Given the description of an element on the screen output the (x, y) to click on. 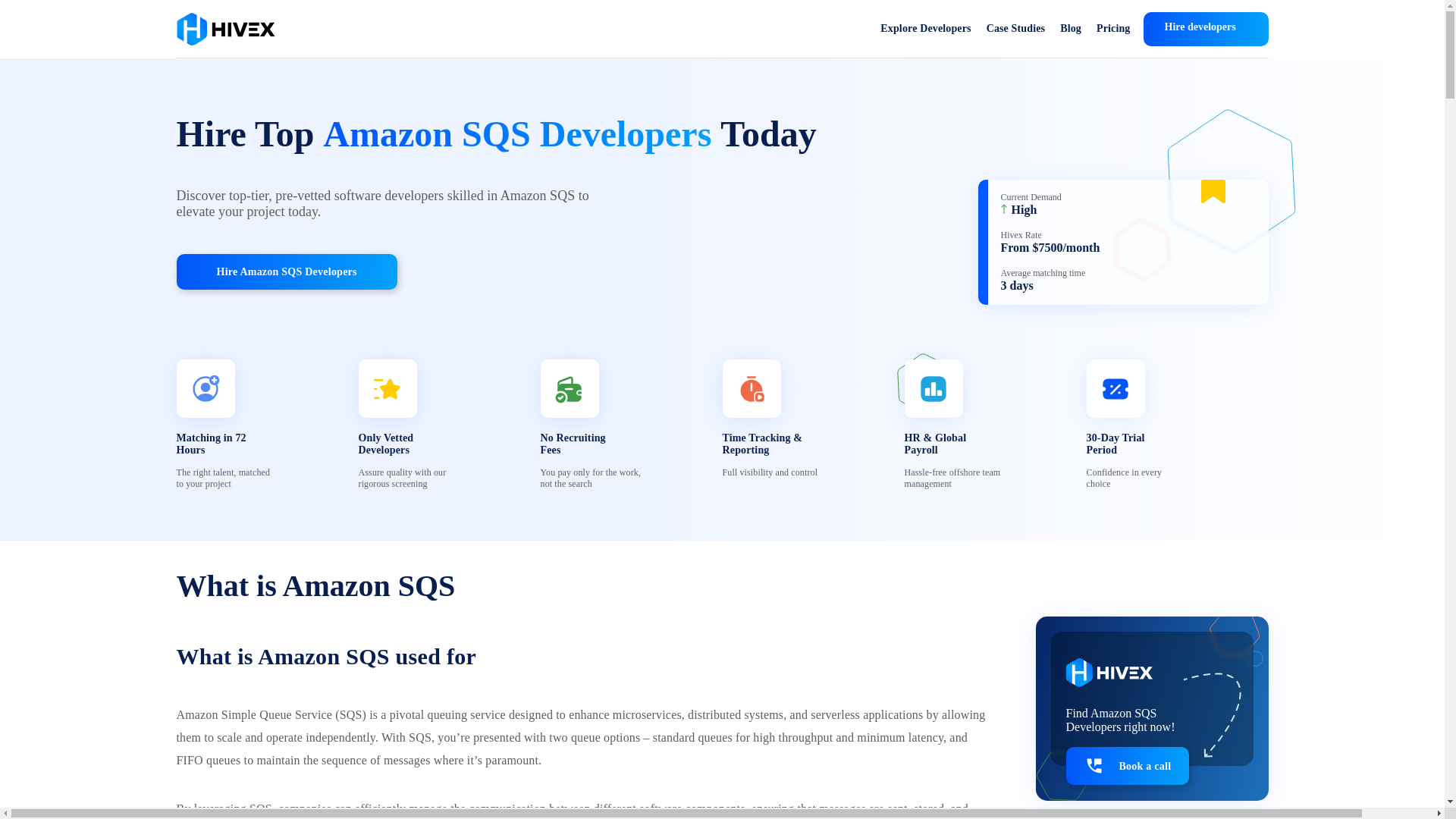
Hire Amazon SQS Developers (286, 271)
Pricing (1113, 28)
Blog (1070, 28)
Hire developers (1205, 28)
Book a call (1127, 765)
Explore Developers (925, 28)
Case Studies (1016, 28)
